Given the description of an element on the screen output the (x, y) to click on. 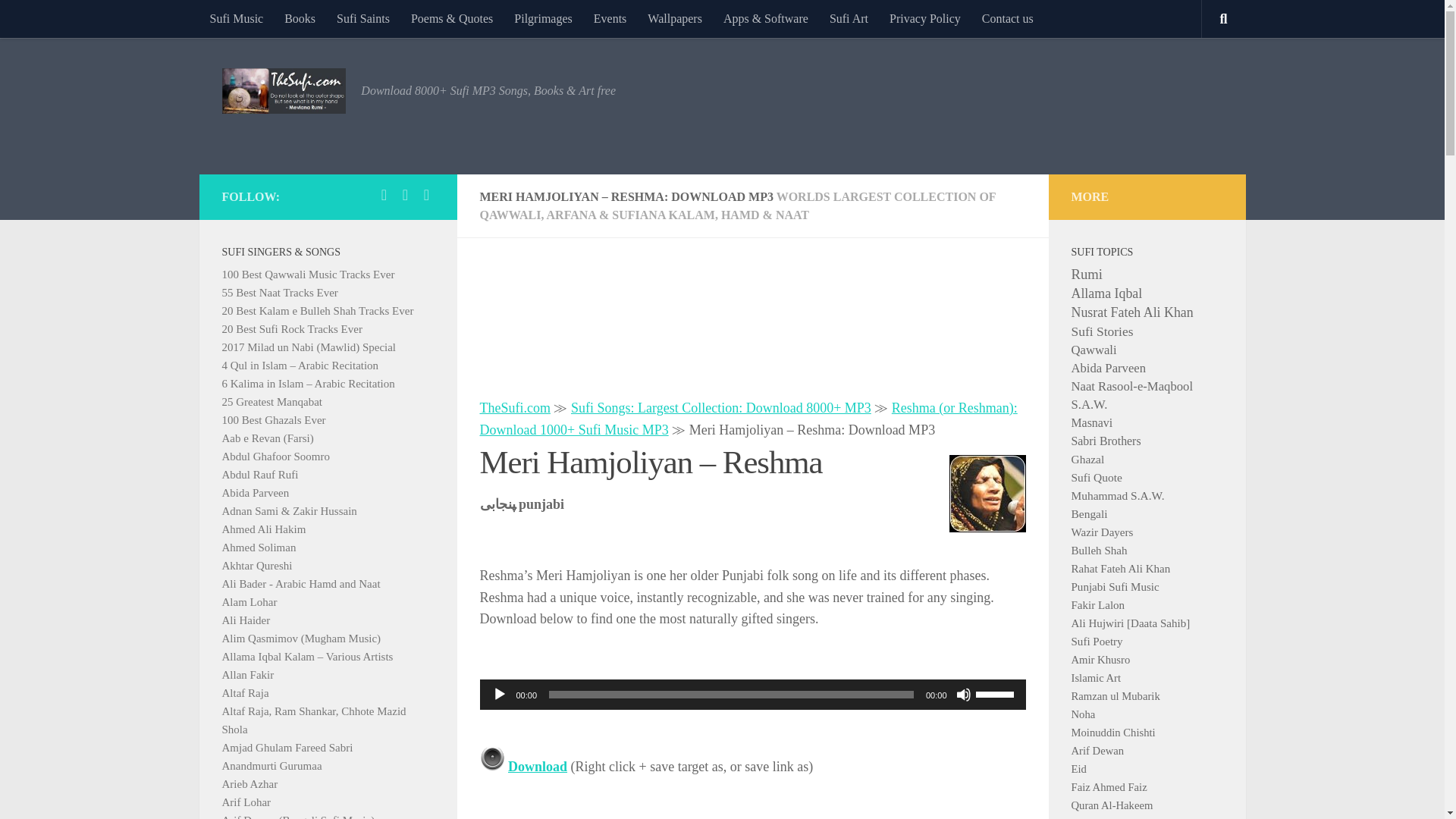
20 Best Kalam e Bulleh Shah Tracks Ever (317, 310)
TheSufi.com (514, 407)
Contact us (1007, 18)
Sufi and Islamic Art (848, 18)
Skip to content (59, 20)
Privacy Policy (925, 18)
Download (537, 766)
Play (499, 694)
55 Best Naat Tracks Ever (279, 292)
